Given the description of an element on the screen output the (x, y) to click on. 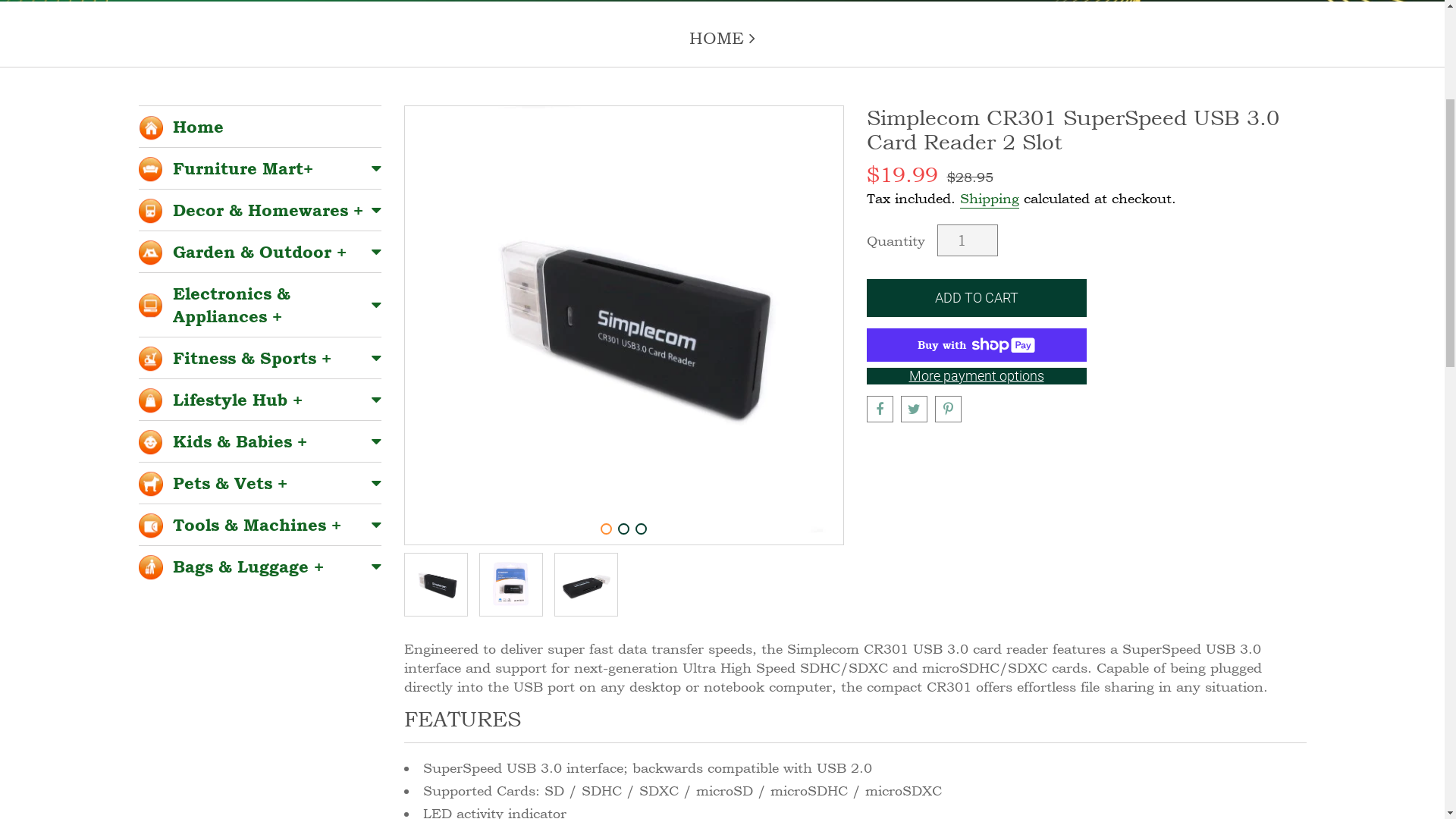
3 Element type: text (640, 798)
ADD TO CART Element type: text (975, 567)
More payment options Element type: text (975, 645)
Shipping Element type: text (989, 469)
Share on Facebook Element type: hover (879, 678)
Next Element type: text (823, 591)
Pin on Pinterest Element type: hover (947, 678)
Tweet on Twitter Element type: hover (913, 678)
Electronics & Appliances + Element type: text (259, 574)
Furniture Mart+ Element type: text (259, 437)
2 Element type: text (623, 798)
Fitness & Sports + Element type: text (259, 627)
Decor & Homewares + Element type: text (259, 479)
Login Element type: text (1181, 125)
Tools & Machines + Element type: text (259, 794)
Next Element type: text (836, 626)
Kids & Babies + Element type: text (259, 710)
Previous Element type: text (423, 591)
Home Element type: text (259, 396)
Previous Element type: text (411, 626)
1 Element type: text (605, 798)
Home Element type: text (1102, 125)
Pets & Vets + Element type: text (259, 752)
Lifestyle Hub + Element type: text (259, 669)
Garden & Outdoor + Element type: text (259, 521)
Cart Element type: text (1260, 125)
